Given the description of an element on the screen output the (x, y) to click on. 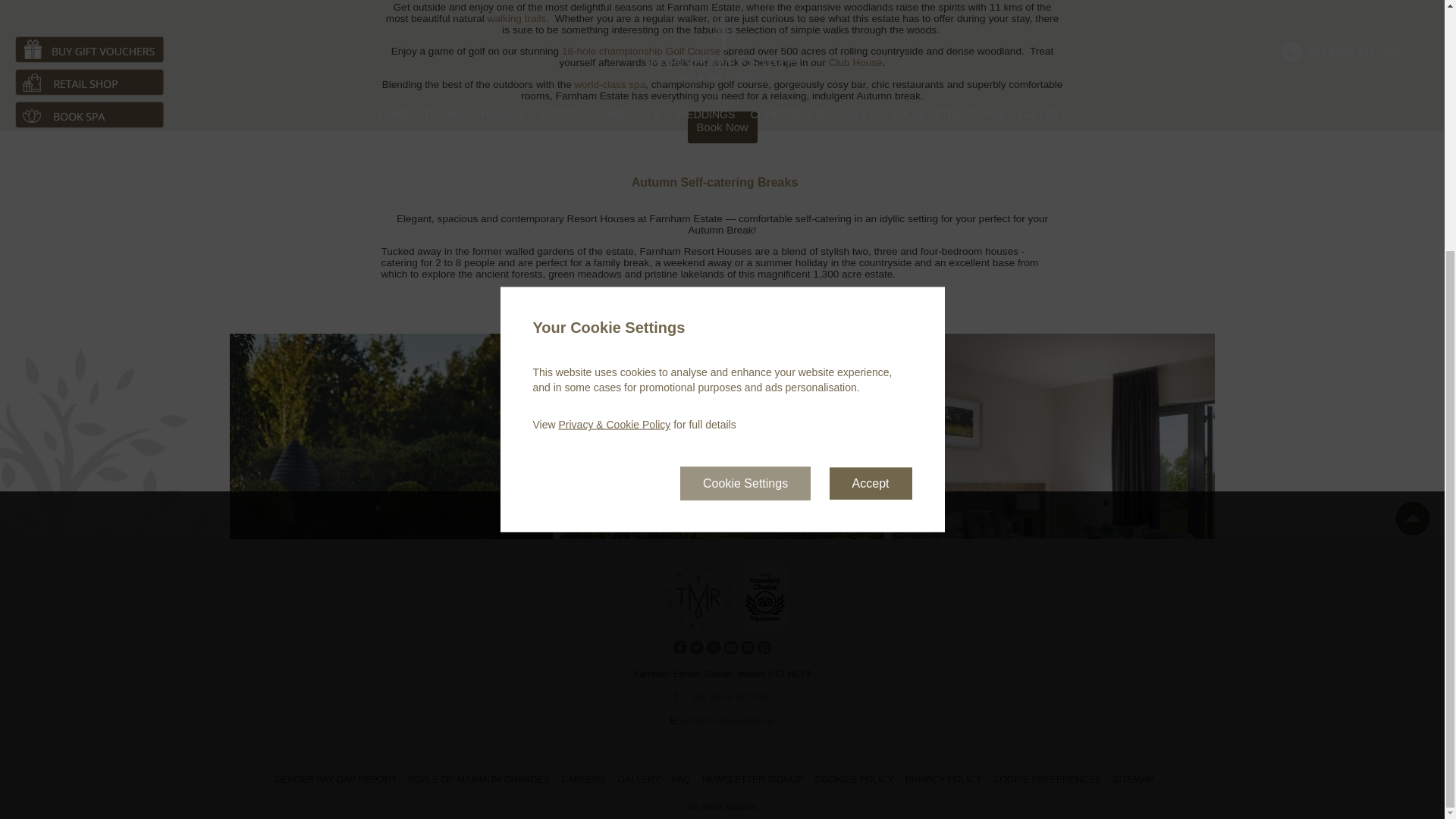
Trip Adviser (764, 627)
TMP logo (697, 627)
Accept (870, 130)
Cookie Settings (744, 130)
